Given the description of an element on the screen output the (x, y) to click on. 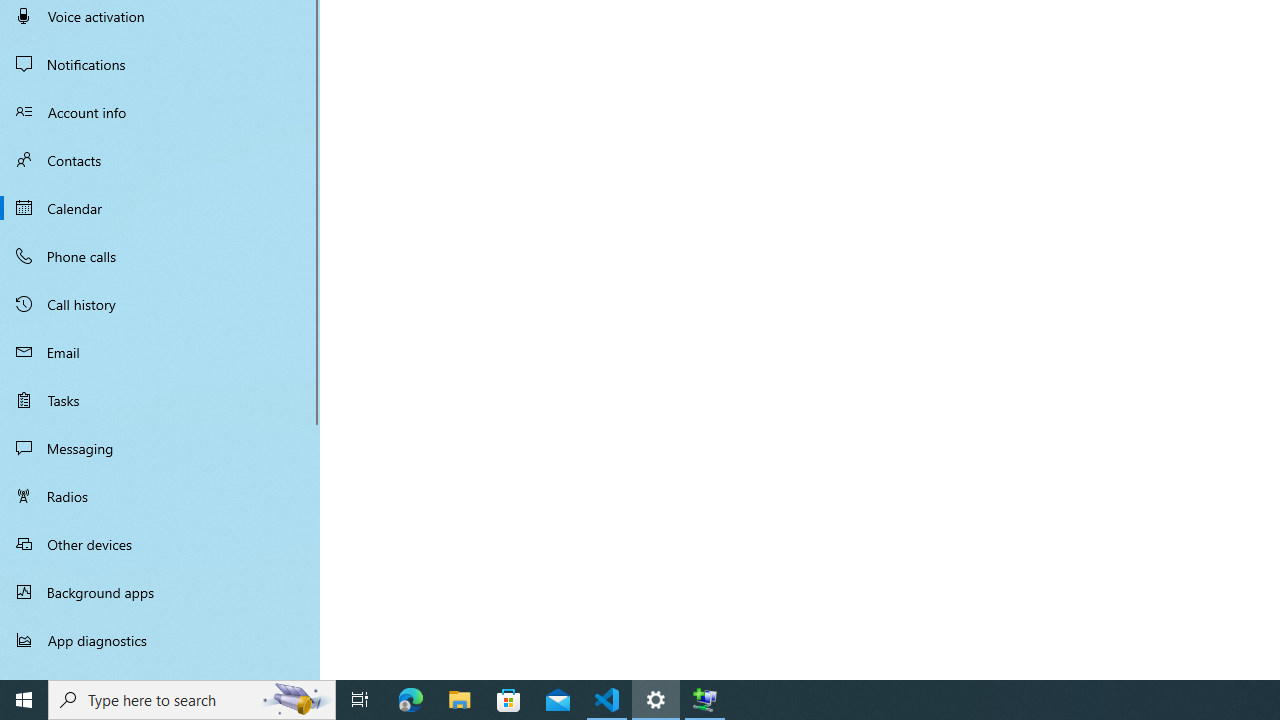
Contacts (160, 160)
Extensible Wizards Host Process - 1 running window (704, 699)
Notifications (160, 63)
Background apps (160, 592)
Other devices (160, 543)
Account info (160, 111)
Email (160, 351)
App diagnostics (160, 639)
Calendar (160, 207)
Messaging (160, 448)
Automatic file downloads (160, 671)
